Given the description of an element on the screen output the (x, y) to click on. 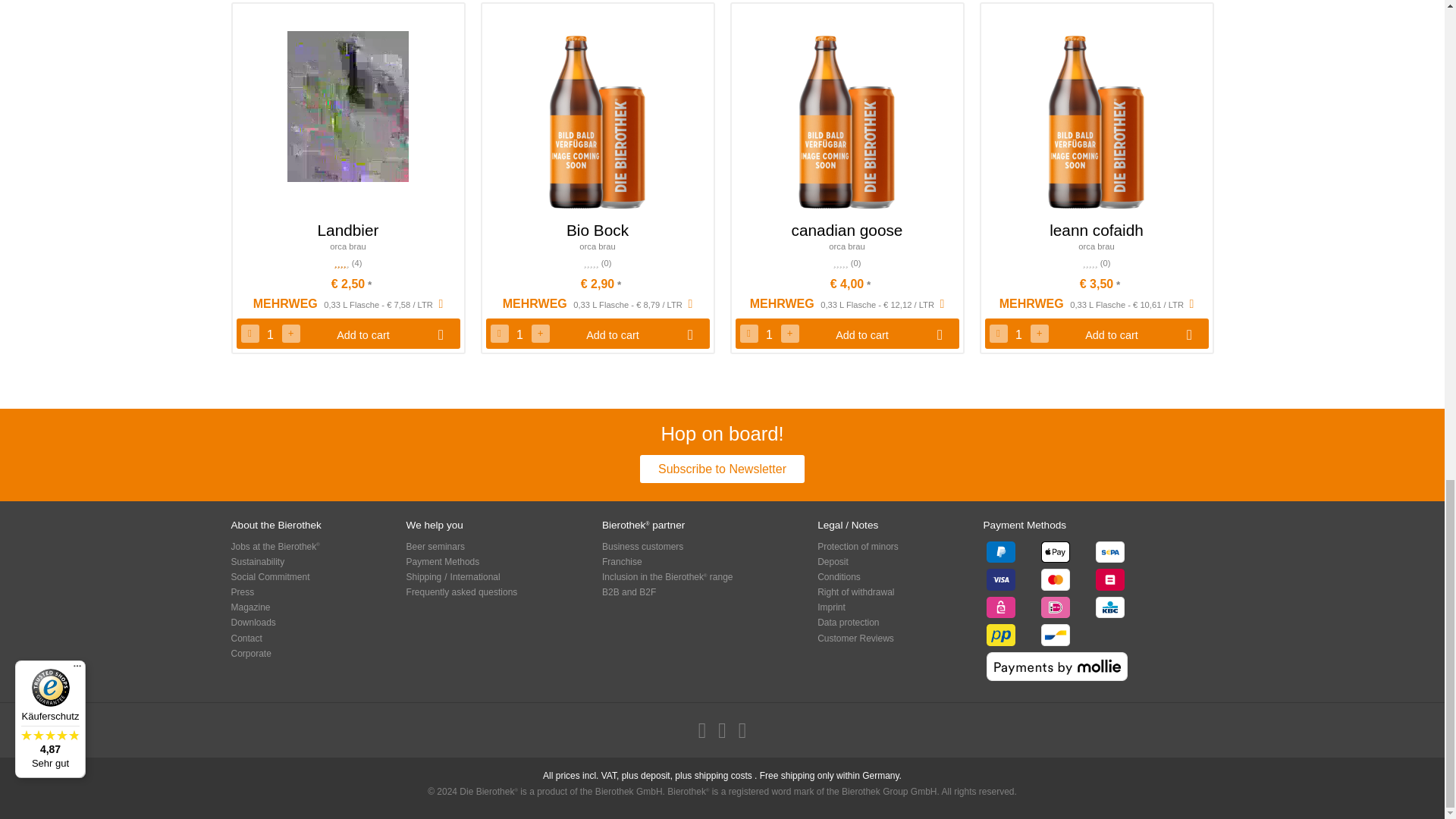
1 (519, 334)
1 (270, 334)
1 (769, 334)
1 (1018, 334)
